Given the description of an element on the screen output the (x, y) to click on. 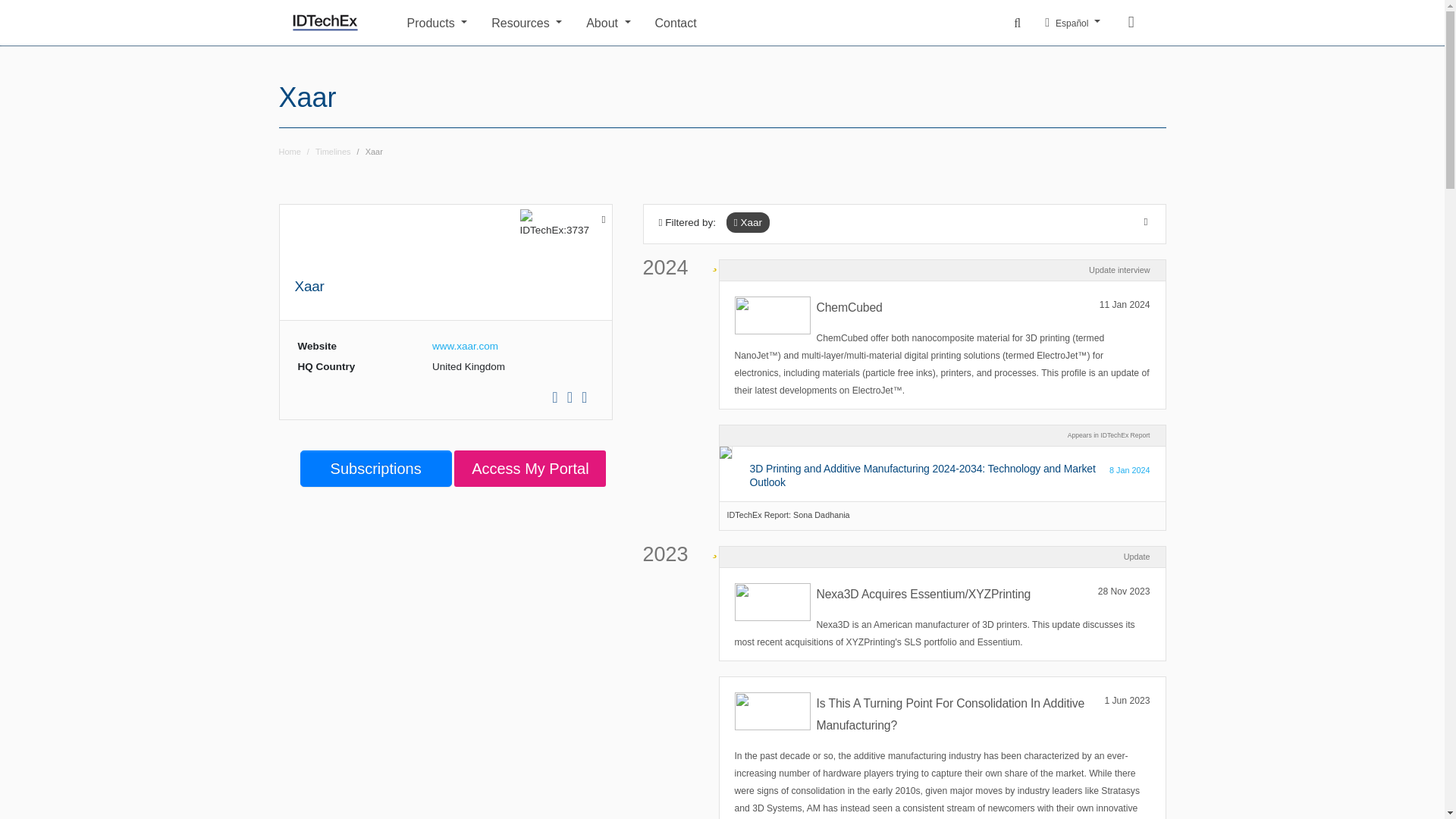
8 Jan 2024 (1129, 470)
Contact (819, 21)
IDTechEx Research Subscriber Only (714, 261)
28 Nov 2023 (1123, 591)
Products (436, 21)
About (607, 21)
Resources (525, 21)
IDTechEx Research Subscriber Only (714, 547)
1 Jun 2023 (1126, 701)
11 Jan 2024 (1124, 304)
